Given the description of an element on the screen output the (x, y) to click on. 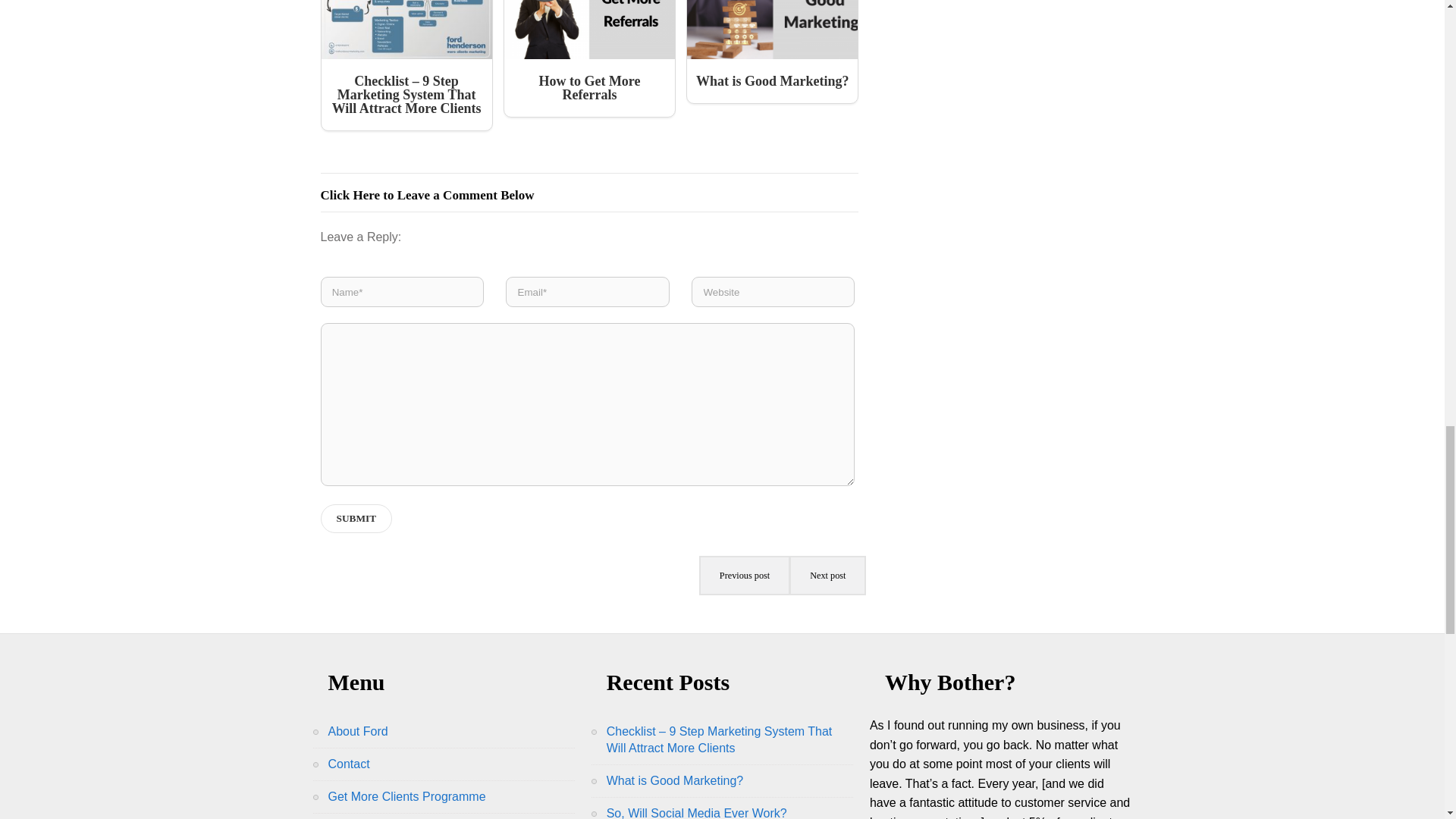
Contact (348, 763)
About Ford (357, 730)
Previous post (744, 575)
Get More Clients Programme (405, 796)
Next post (827, 575)
SUBMIT (355, 518)
What is Good Marketing? (772, 52)
SUBMIT (355, 518)
How to Get More Referrals (589, 58)
